Given the description of an element on the screen output the (x, y) to click on. 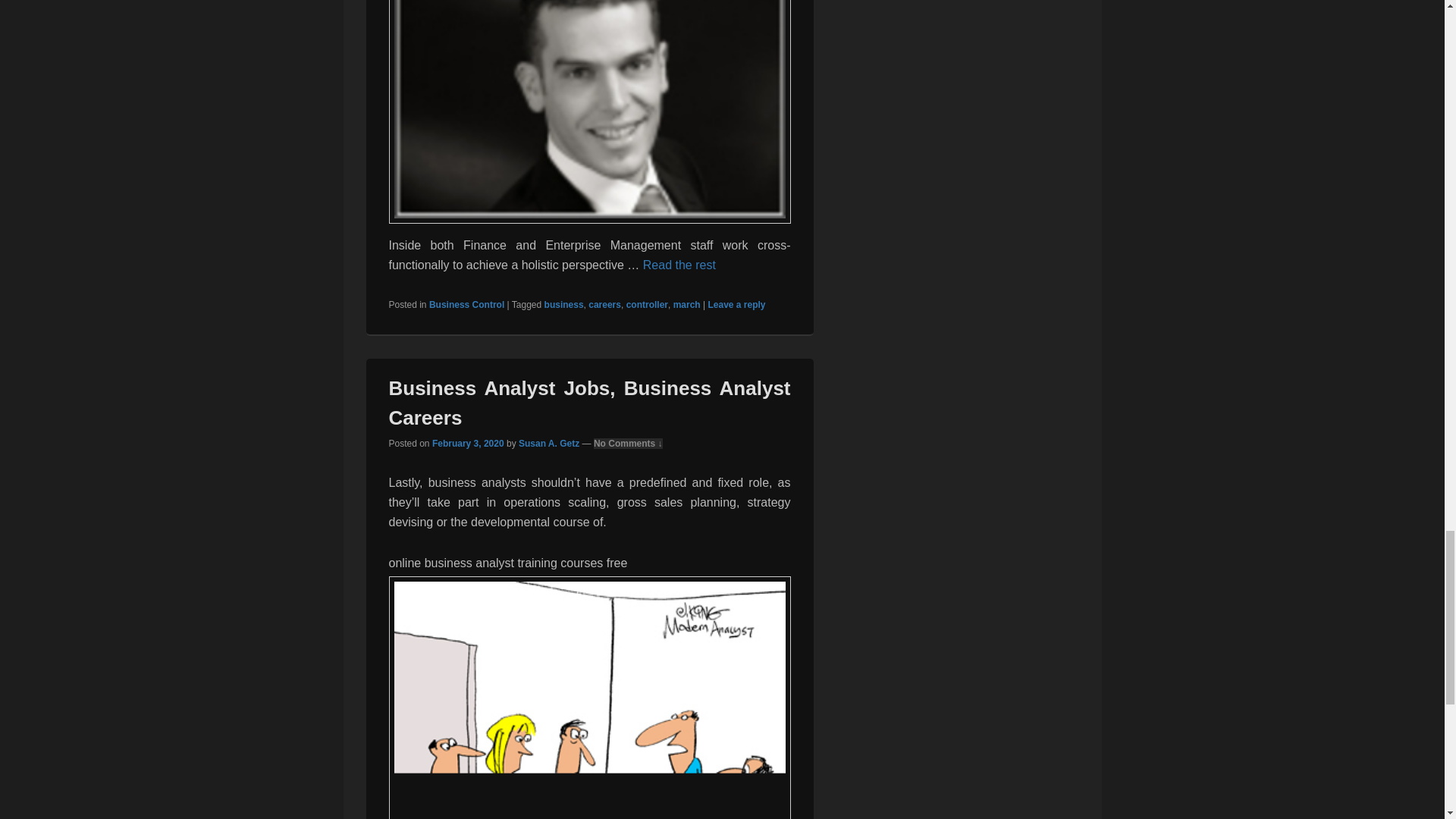
View all posts by Susan A. Getz (548, 443)
Permalink to Business Analyst Jobs, Business Analyst Careers (589, 402)
4:12 am (467, 443)
